Given the description of an element on the screen output the (x, y) to click on. 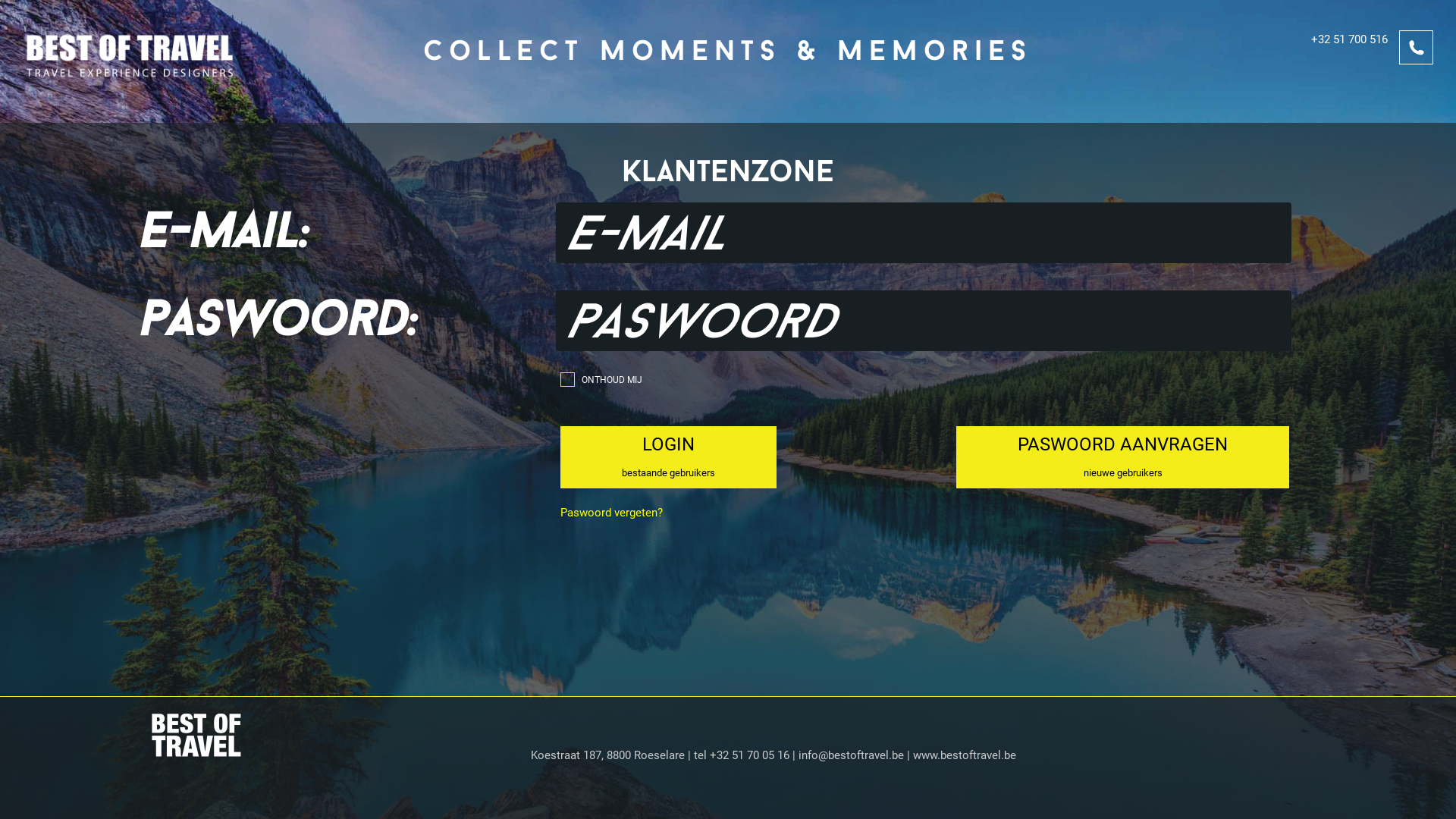
www.bestoftravel.be Element type: text (964, 755)
info@bestoftravel.be Element type: text (850, 755)
+32 51 700 516 Element type: text (1325, 49)
+32 51 70 05 16 Element type: text (749, 755)
PASWOORD AANVRAGEN
nieuwe gebruikers Element type: text (1122, 457)
Paswoord vergeten? Element type: text (611, 512)
LOGIN
bestaande gebruikers Element type: text (668, 457)
